Given the description of an element on the screen output the (x, y) to click on. 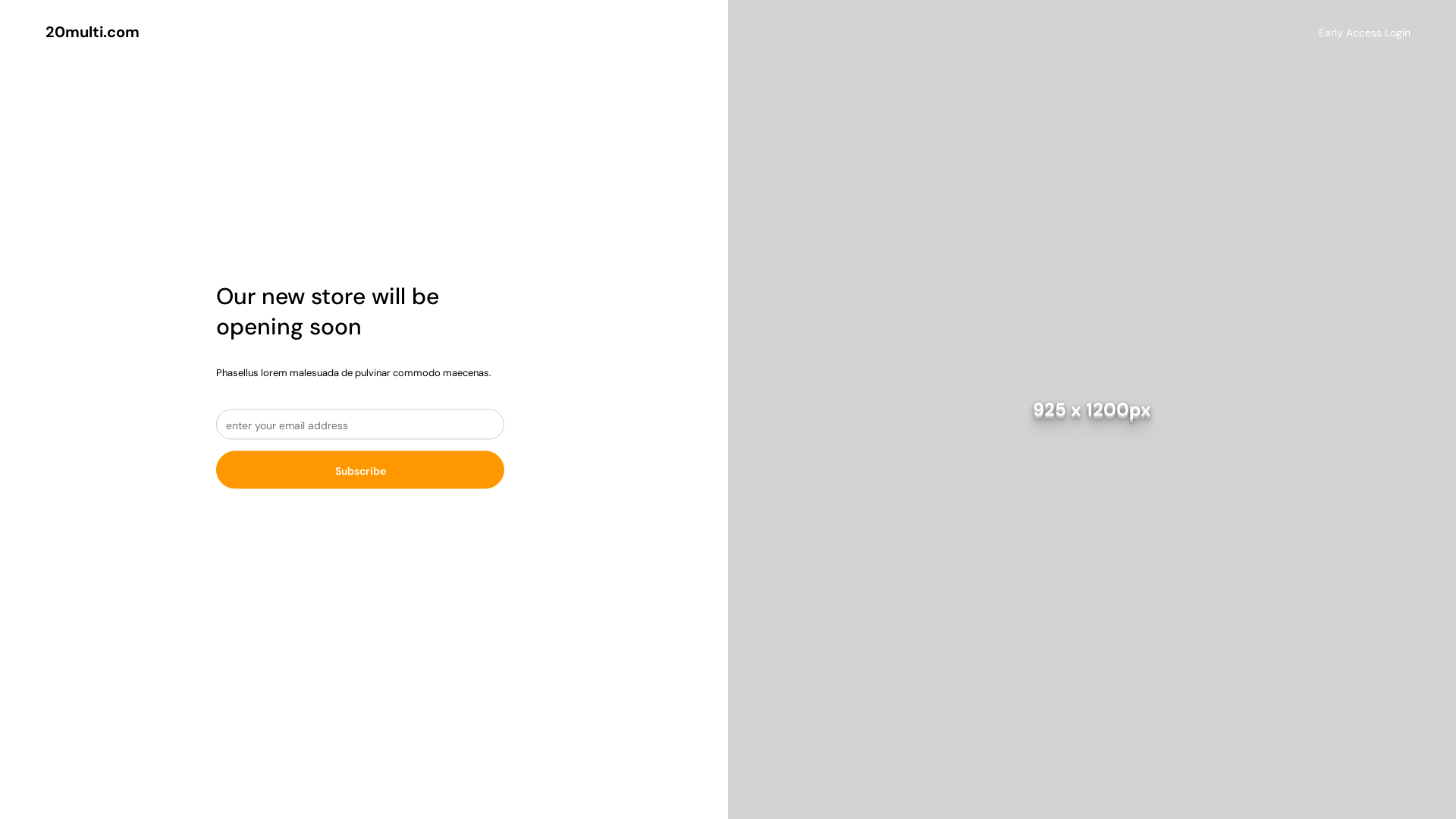
20multi.com Element type: text (92, 31)
Subscribe Element type: text (360, 469)
